Given the description of an element on the screen output the (x, y) to click on. 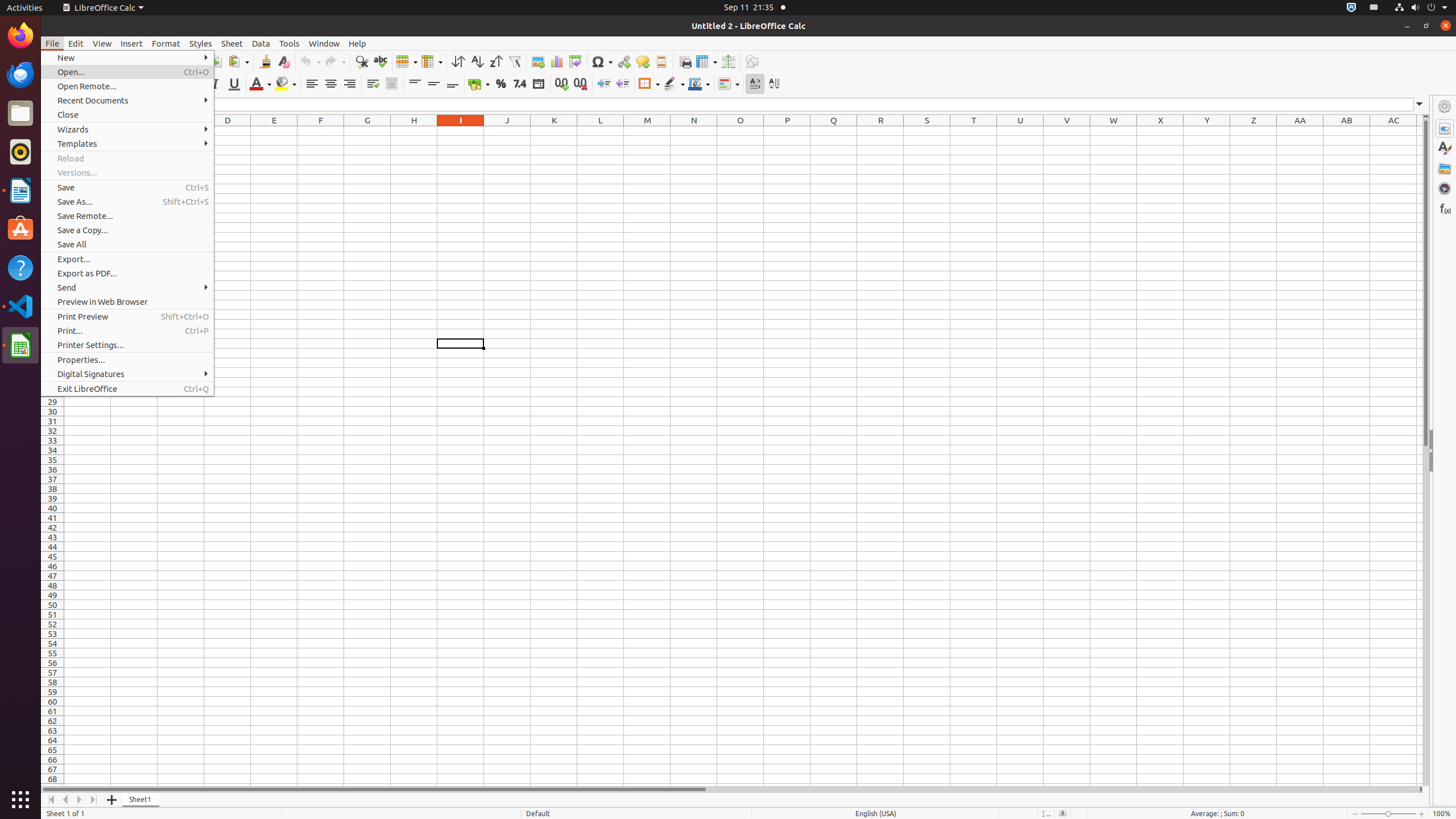
Clear Element type: push-button (283, 61)
Number Element type: push-button (519, 83)
T1 Element type: table-cell (973, 130)
Background Color Element type: push-button (285, 83)
AutoFilter Element type: push-button (514, 61)
